Given the description of an element on the screen output the (x, y) to click on. 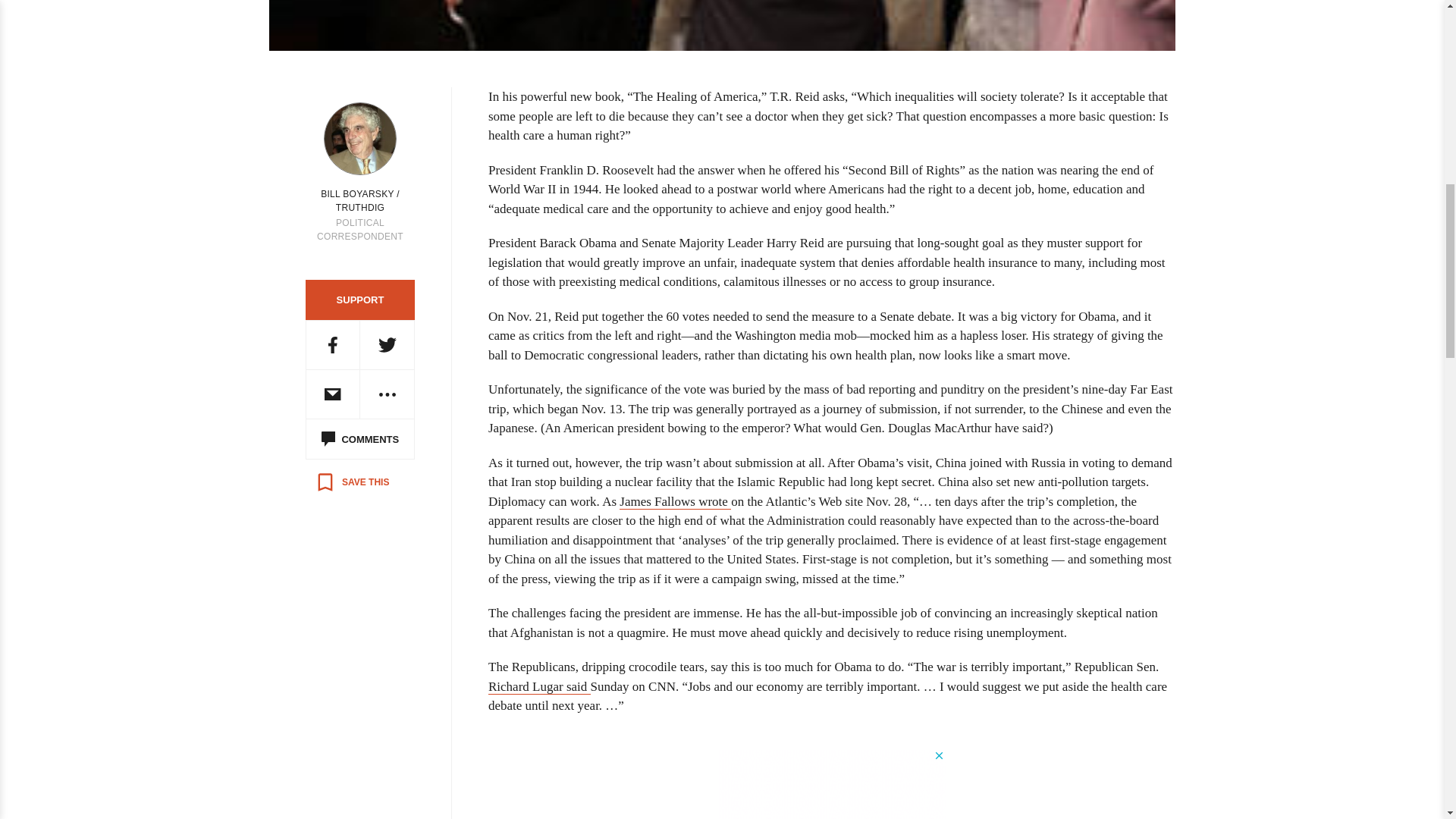
Save to read later (351, 482)
3rd party ad content (830, 784)
